Given the description of an element on the screen output the (x, y) to click on. 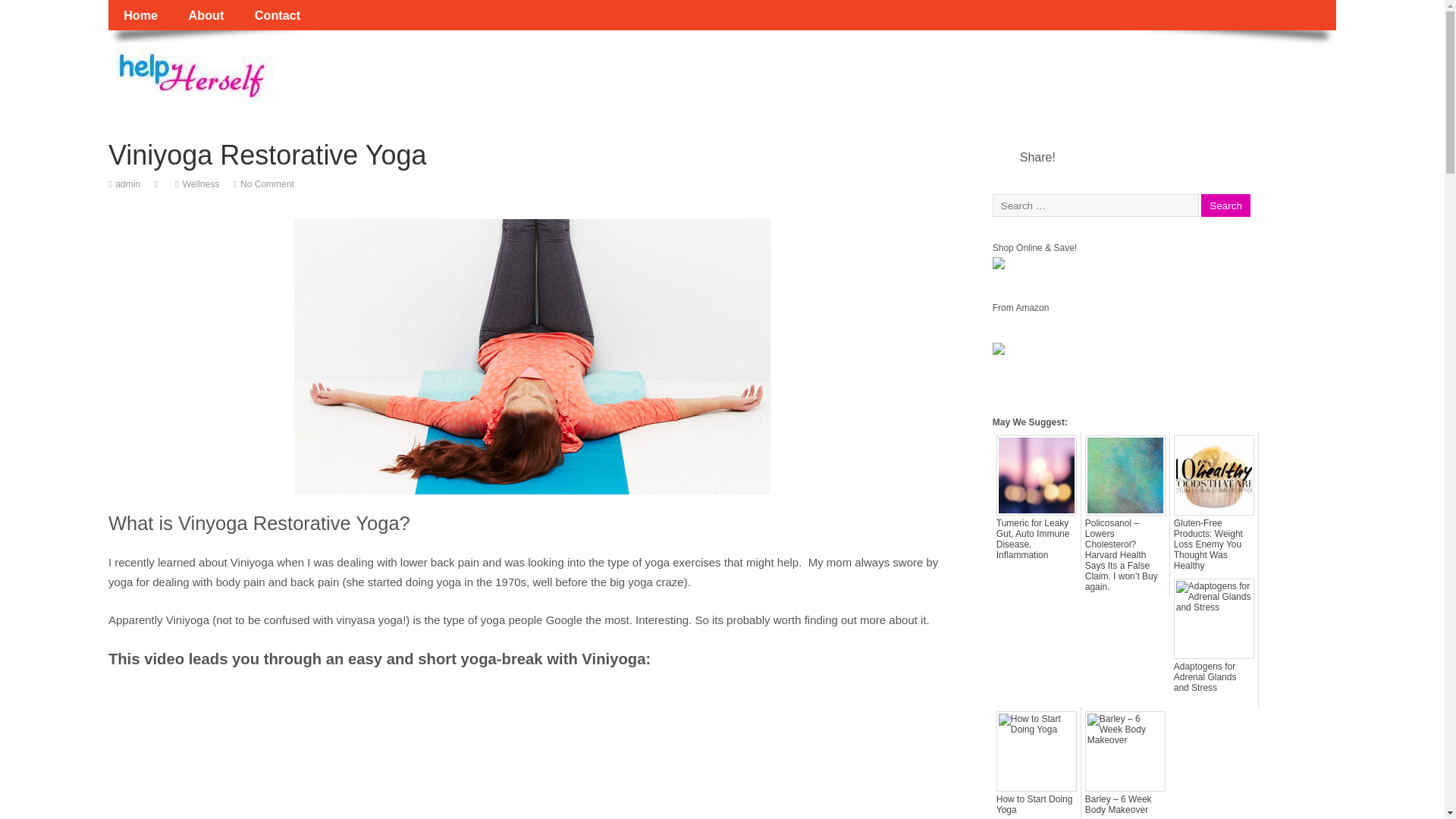
Search for: (1095, 205)
Search (1225, 205)
Search (1225, 205)
Search (1225, 205)
No Comment (267, 184)
Home (140, 15)
Posts by admin (127, 184)
Share! (1037, 157)
admin (127, 184)
Contact (277, 15)
About (205, 15)
Wellness (201, 184)
